Given the description of an element on the screen output the (x, y) to click on. 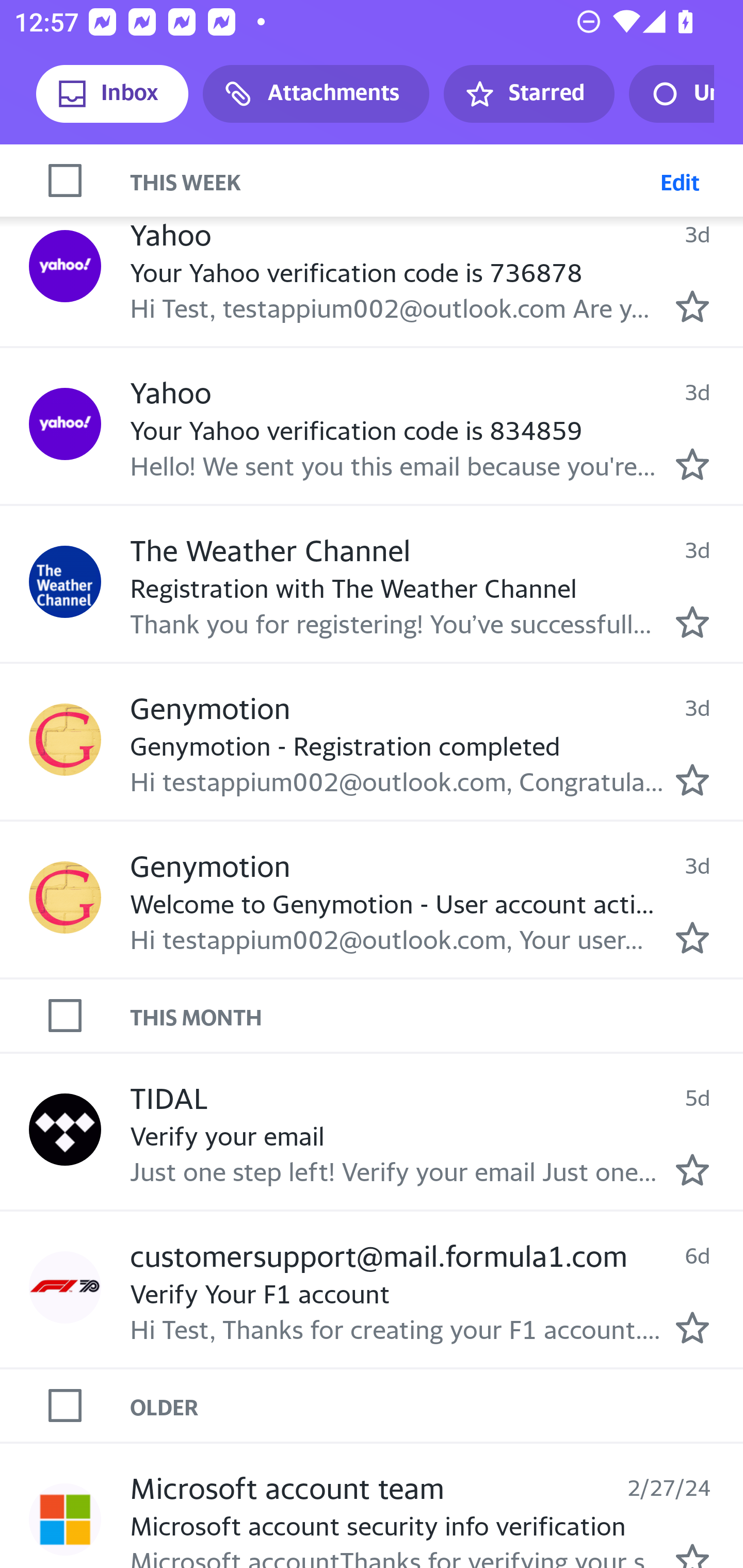
Attachments (315, 93)
Starred (528, 93)
Profile
Yahoo (64, 266)
Mark as starred. (692, 306)
Profile
Yahoo (64, 423)
Mark as starred. (692, 464)
Profile
The Weather Channel (64, 581)
Mark as starred. (692, 621)
Profile
Genymotion (64, 740)
Mark as starred. (692, 780)
Profile
Genymotion (64, 896)
Mark as starred. (692, 938)
THIS MONTH (436, 1015)
Profile
TIDAL (64, 1128)
Mark as starred. (692, 1170)
Profile
customersupport@mail.formula1.com (64, 1287)
Mark as starred. (692, 1327)
OLDER (436, 1405)
Profile
Microsoft account team (64, 1519)
Mark as starred. (692, 1554)
